Given the description of an element on the screen output the (x, y) to click on. 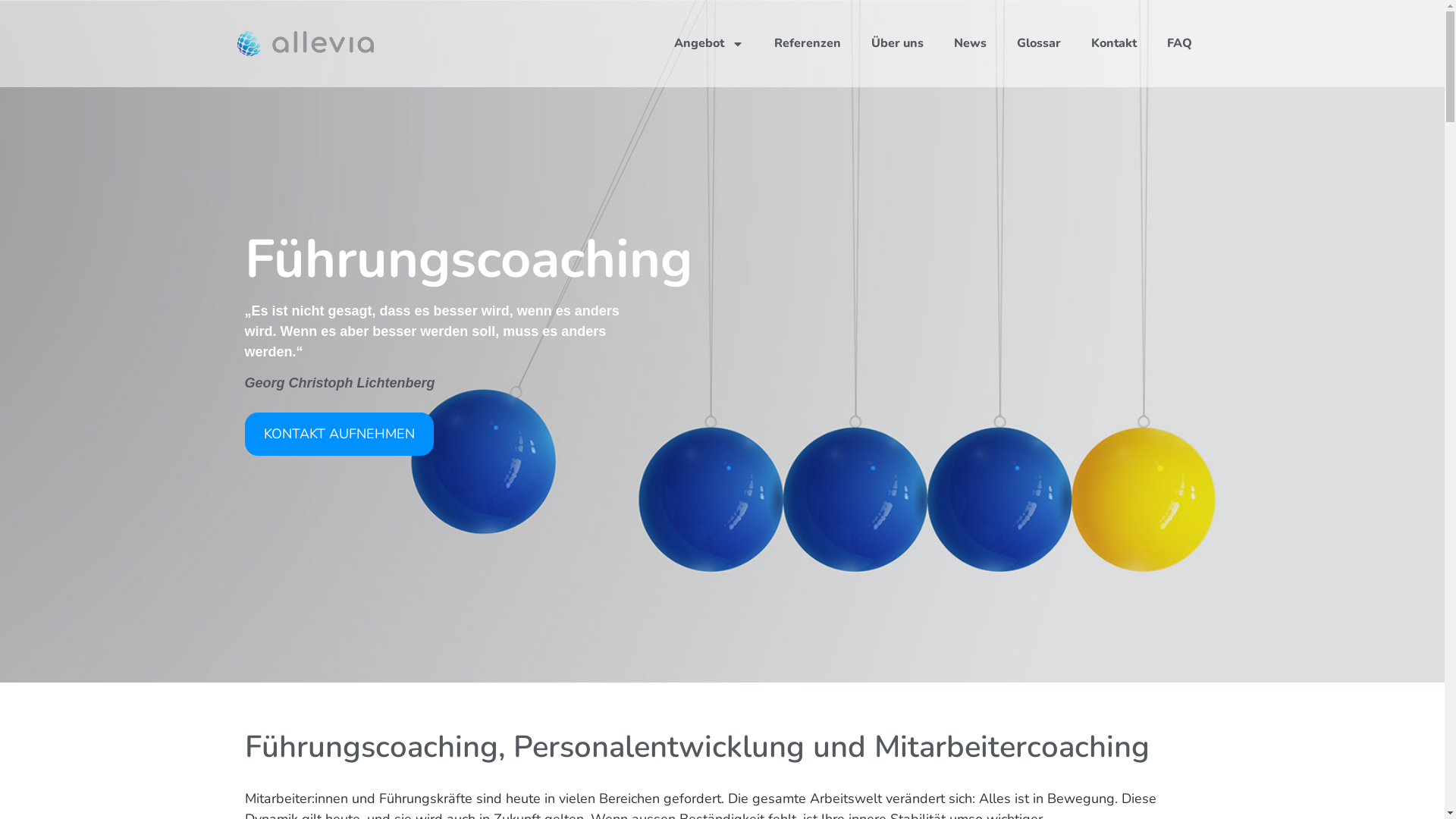
Georg Christoph Lichtenberg Element type: text (339, 382)
Referenzen Element type: text (807, 43)
KONTAKT AUFNEHMEN Element type: text (338, 433)
Kontakt Element type: text (1113, 43)
> Element type: text (23, 22)
Glossar Element type: text (1038, 43)
FAQ Element type: text (1179, 43)
Angebot Element type: text (708, 43)
News Element type: text (969, 43)
